Given the description of an element on the screen output the (x, y) to click on. 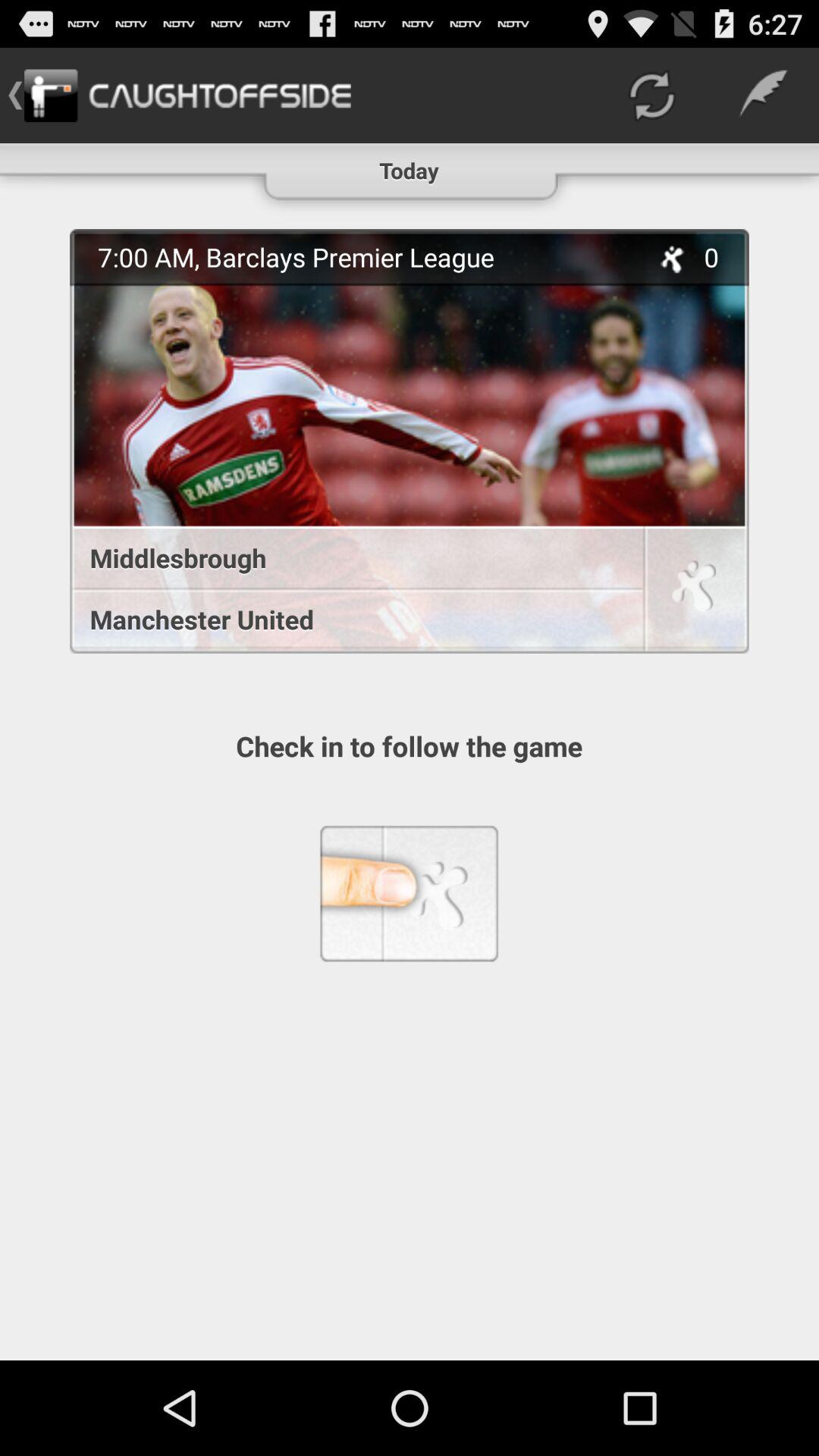
flip to 7 00 am app (364, 256)
